Given the description of an element on the screen output the (x, y) to click on. 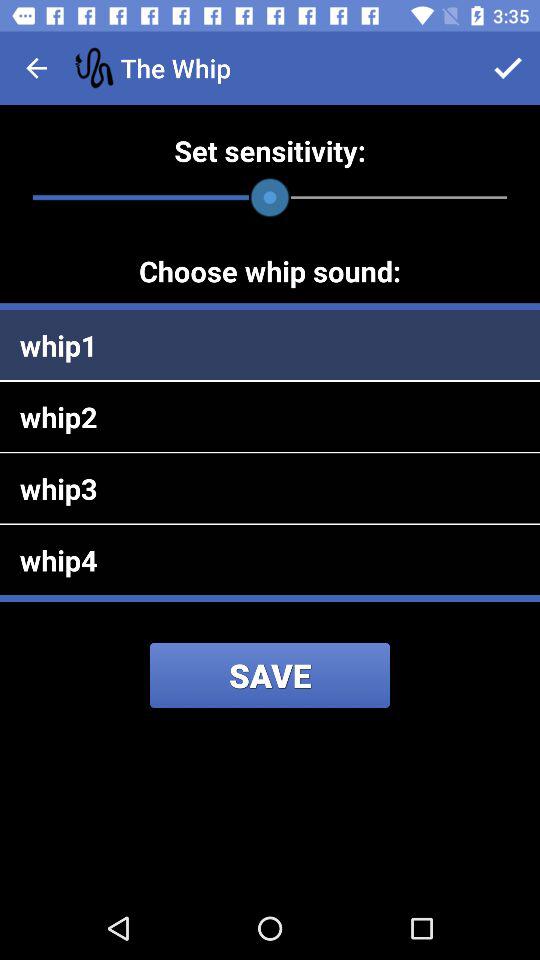
open item above the set sensitivity: item (508, 67)
